Given the description of an element on the screen output the (x, y) to click on. 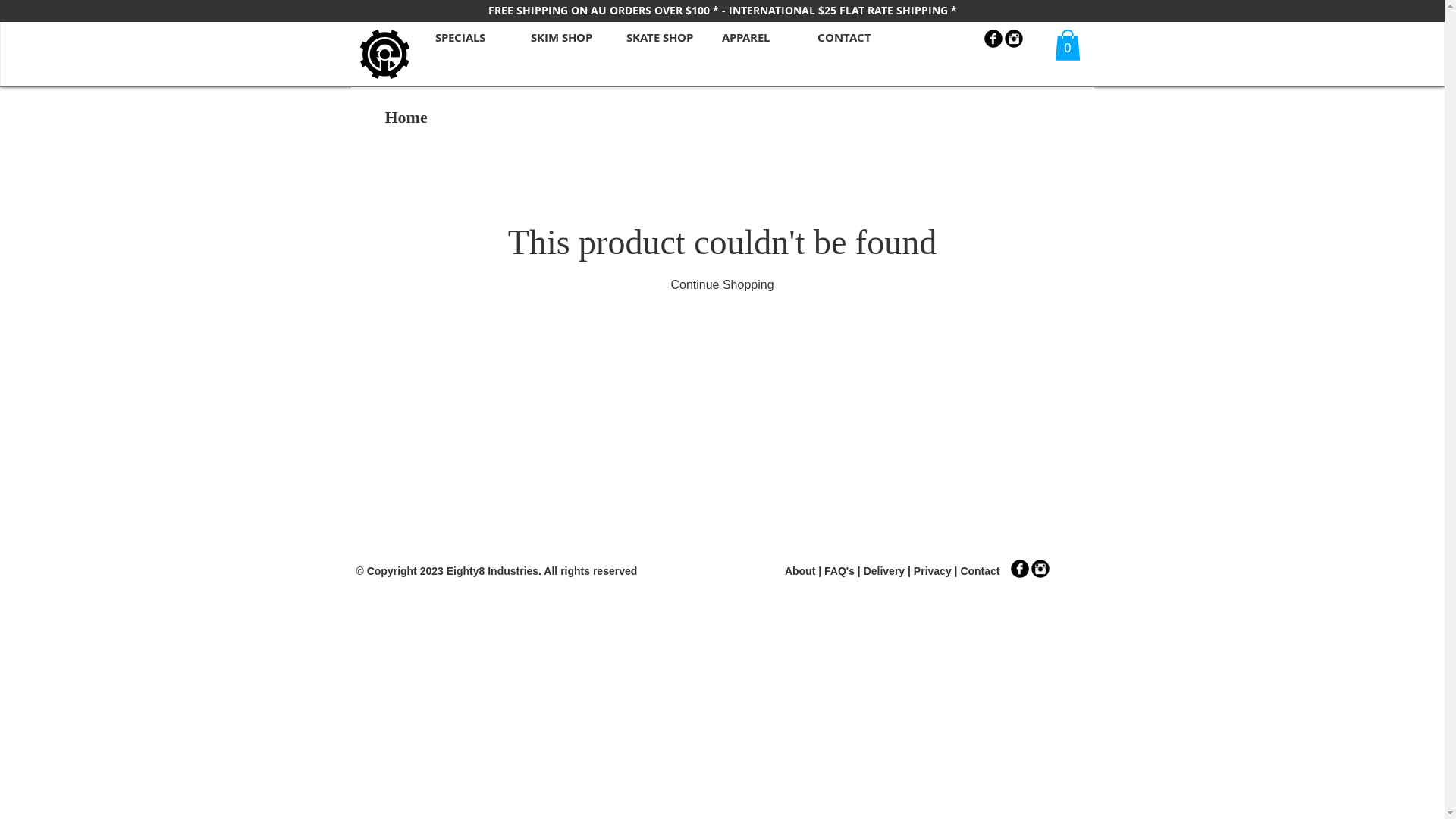
FAQ's Element type: text (839, 570)
Contact Element type: text (979, 570)
Home Element type: text (406, 116)
APPAREL Element type: text (754, 34)
CONTACT Element type: text (849, 34)
0 Element type: text (1066, 44)
Continue Shopping Element type: text (721, 284)
SPECIALS Element type: text (467, 34)
About Element type: text (799, 570)
Privacy Element type: text (932, 570)
SKATE SHOP Element type: text (658, 34)
SKIM SHOP Element type: text (563, 34)
WEB-STAT Element type: hover (701, 612)
Delivery Element type: text (883, 570)
